Given the description of an element on the screen output the (x, y) to click on. 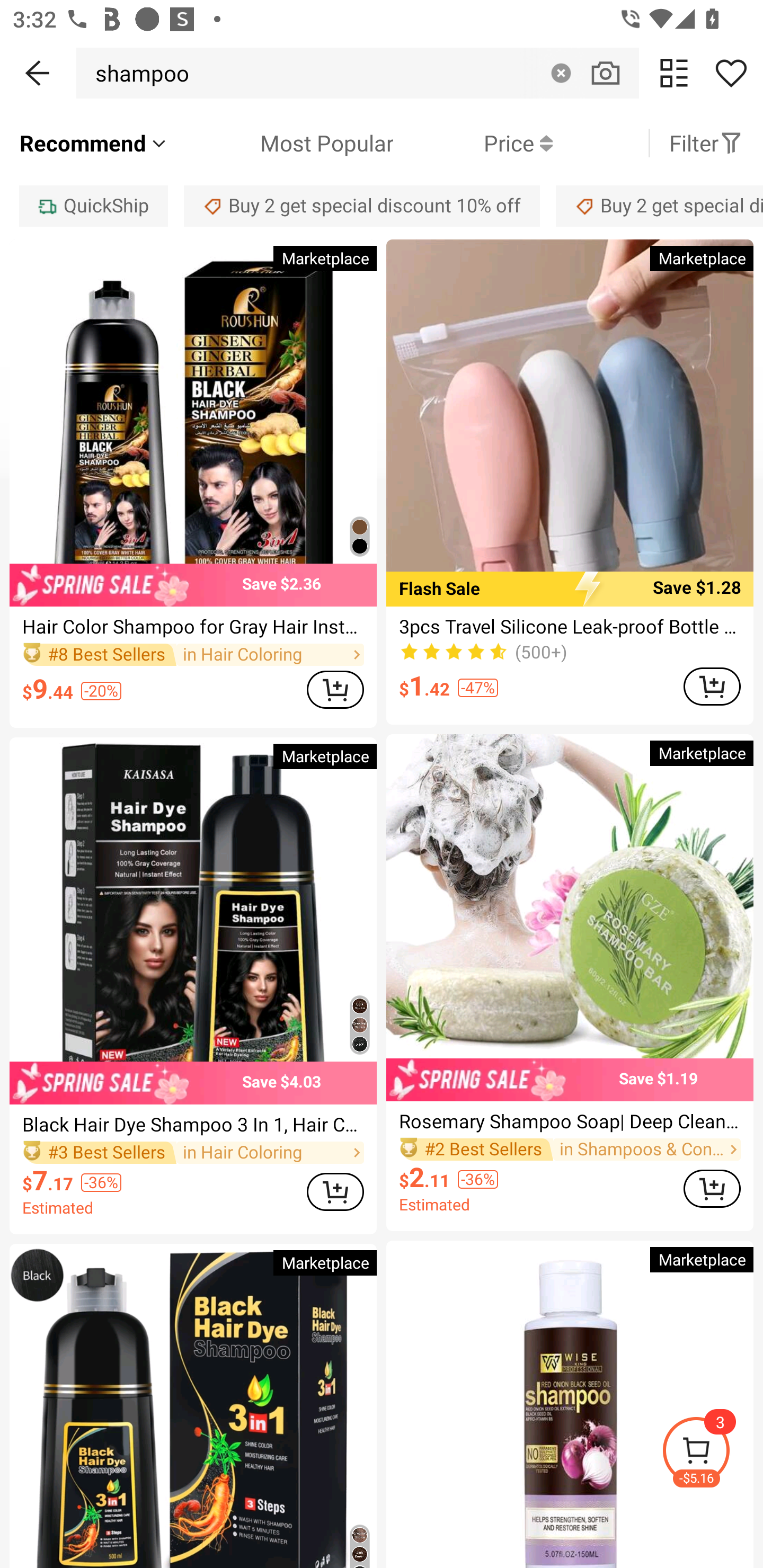
shampoo (137, 72)
Clear (560, 72)
change view (673, 72)
Share (730, 72)
Recommend (94, 143)
Most Popular (280, 143)
Price (472, 143)
Filter (705, 143)
QuickShip (93, 206)
Buy 2 get special discount 10% off (361, 206)
Buy 2 get special discount 30% off (659, 206)
#8 Best Sellers in Hair Coloring (192, 654)
ADD TO CART (711, 686)
ADD TO CART (334, 689)
#2 Best Sellers in Shampoos & Conditioners (569, 1148)
#3 Best Sellers in Hair Coloring (192, 1152)
ADD TO CART (711, 1188)
ADD TO CART (334, 1191)
-$5.16 (712, 1452)
